Given the description of an element on the screen output the (x, y) to click on. 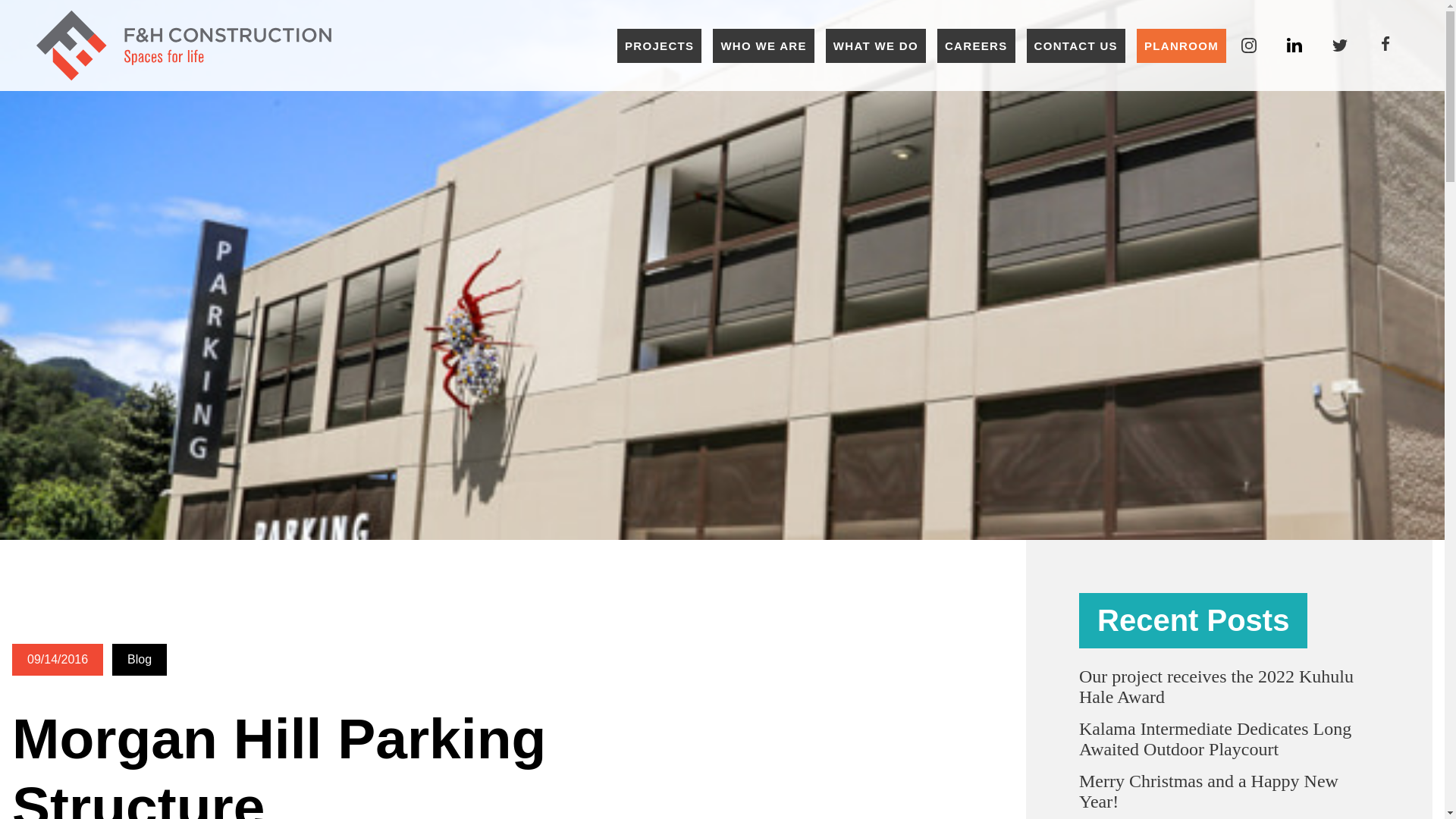
Kalama Intermediate Dedicates Long Awaited Outdoor Playcourt (1214, 739)
Our project receives the 2022 Kuhulu Hale Award (1216, 686)
WHO WE ARE (763, 45)
Merry Christmas and a Happy New Year! (1208, 791)
Blog (139, 659)
CONTACT US (1075, 45)
WHAT WE DO (875, 45)
CAREERS (975, 45)
PROJECTS (659, 45)
PLANROOM (1181, 45)
